Given the description of an element on the screen output the (x, y) to click on. 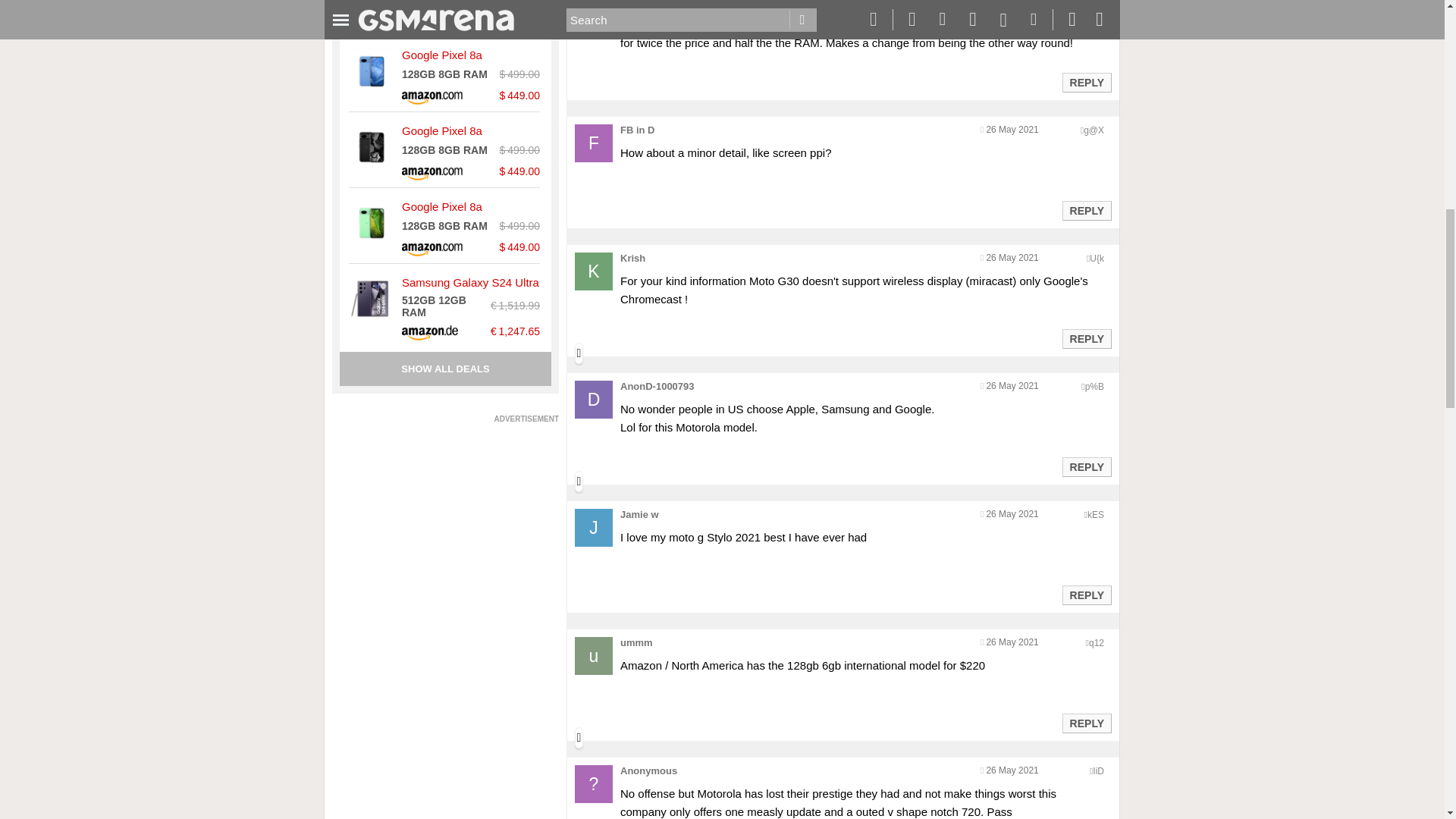
REPLY (1086, 210)
Reply to this post (1086, 82)
Reply to this post (1086, 210)
Reply to this post (1086, 723)
Encoded anonymized location (1095, 514)
Encoded anonymized location (1093, 386)
Encoded anonymized location (1096, 258)
REPLY (1086, 82)
Encoded anonymized location (1096, 643)
Reply to this post (1086, 594)
Encoded anonymized location (1096, 3)
REPLY (1086, 339)
Encoded anonymized location (1093, 130)
Reply to this post (1086, 467)
Encoded anonymized location (1098, 770)
